Given the description of an element on the screen output the (x, y) to click on. 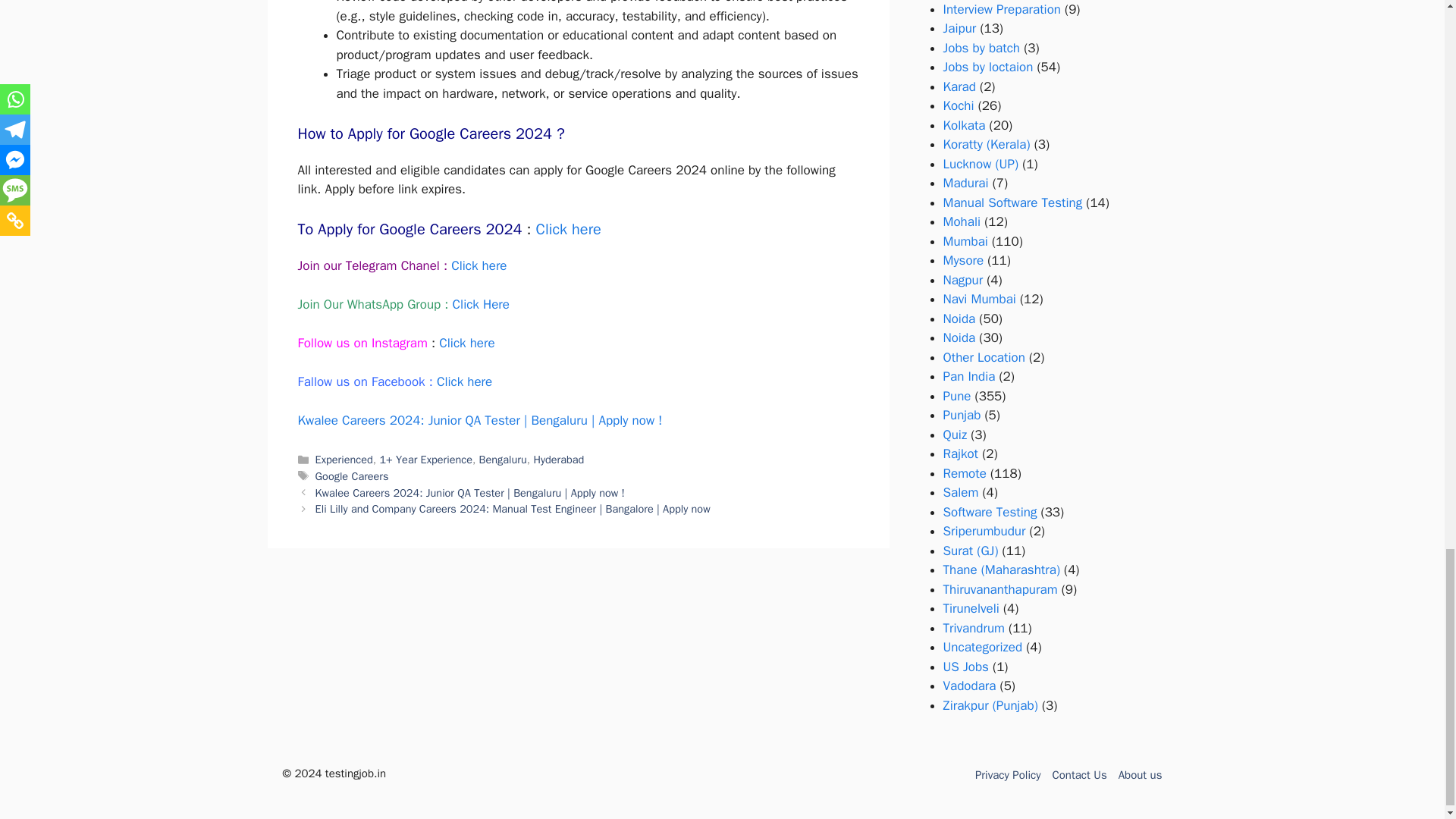
Click here (568, 229)
Click here (467, 342)
Click here (478, 265)
Click here (464, 381)
Click Here (480, 304)
cgi (568, 229)
